Given the description of an element on the screen output the (x, y) to click on. 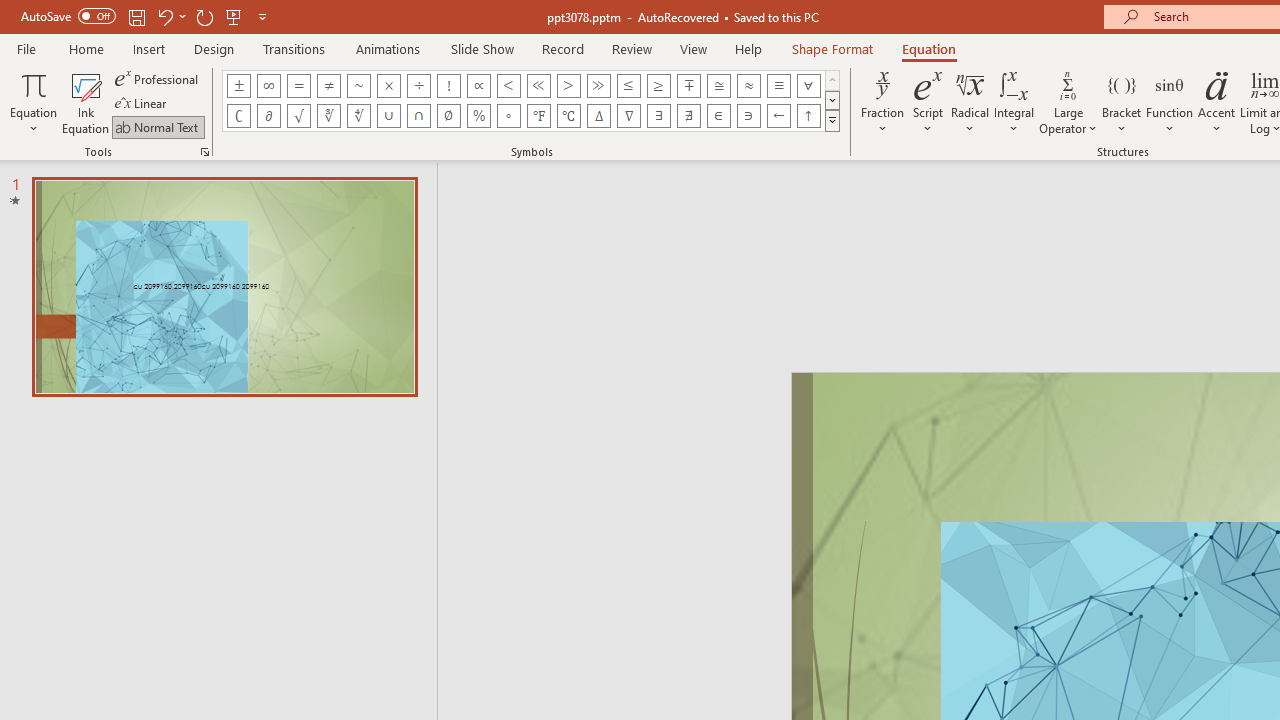
Equation Symbol Approximately (358, 85)
Equation Symbol Contains as Member (748, 115)
Equation Symbol Left Arrow (778, 115)
Equation Symbol Empty Set (448, 115)
Equation Options... (204, 151)
Equation Symbol For All (808, 85)
Linear (142, 103)
Equation Symbol Complement (238, 115)
Equation Symbol There Exists (658, 115)
